Given the description of an element on the screen output the (x, y) to click on. 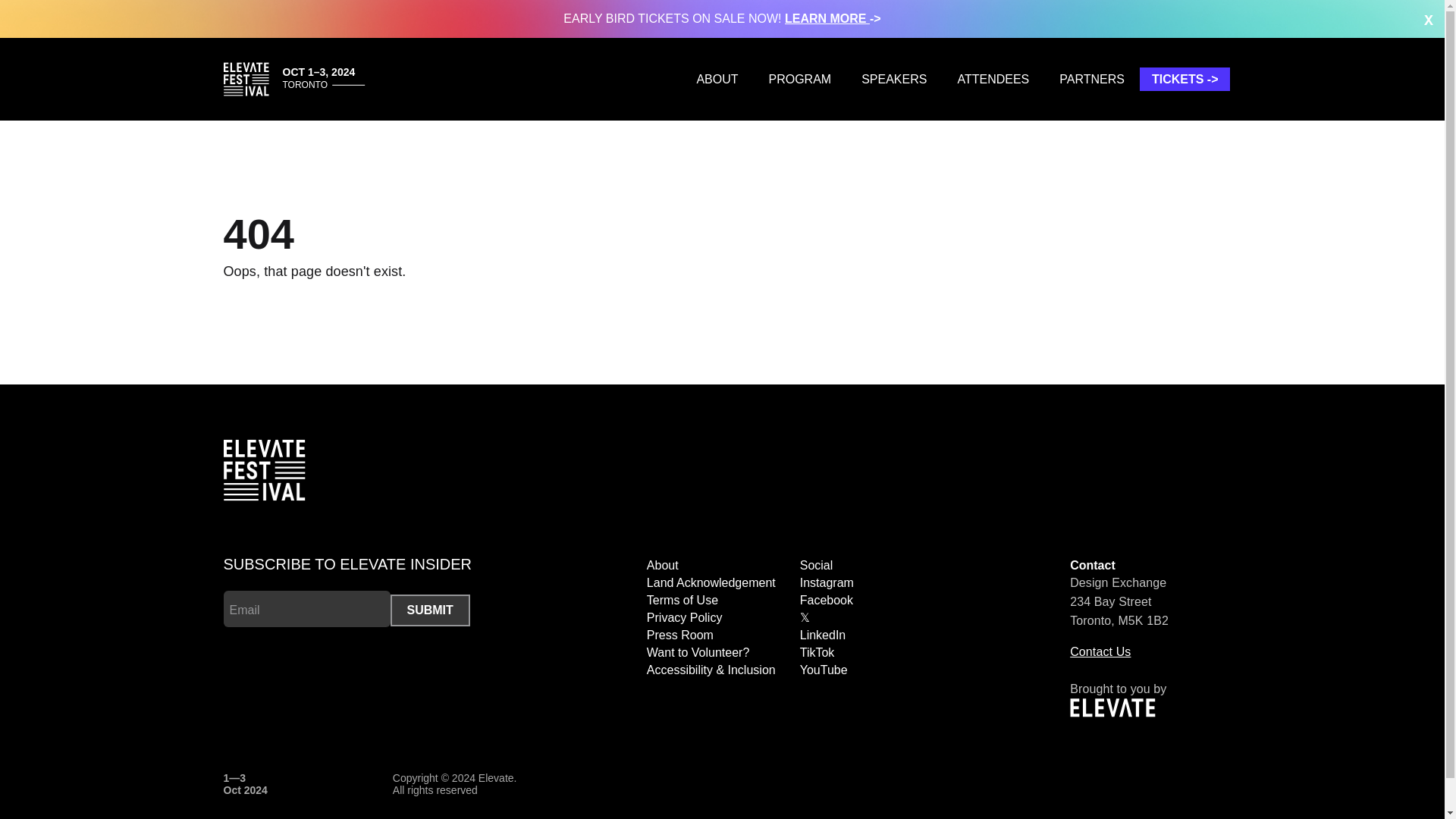
LinkedIn (822, 634)
PROGRAM (799, 78)
ATTENDEES (992, 78)
TICKETS (1185, 78)
Facebook (826, 599)
Submit (429, 610)
PARTNERS (1091, 78)
TikTok (816, 652)
ABOUT (716, 78)
Instagram (826, 582)
Submit (429, 610)
SPEAKERS (893, 78)
Press Room (679, 634)
Want to Volunteer? (697, 652)
Privacy Policy (684, 617)
